Given the description of an element on the screen output the (x, y) to click on. 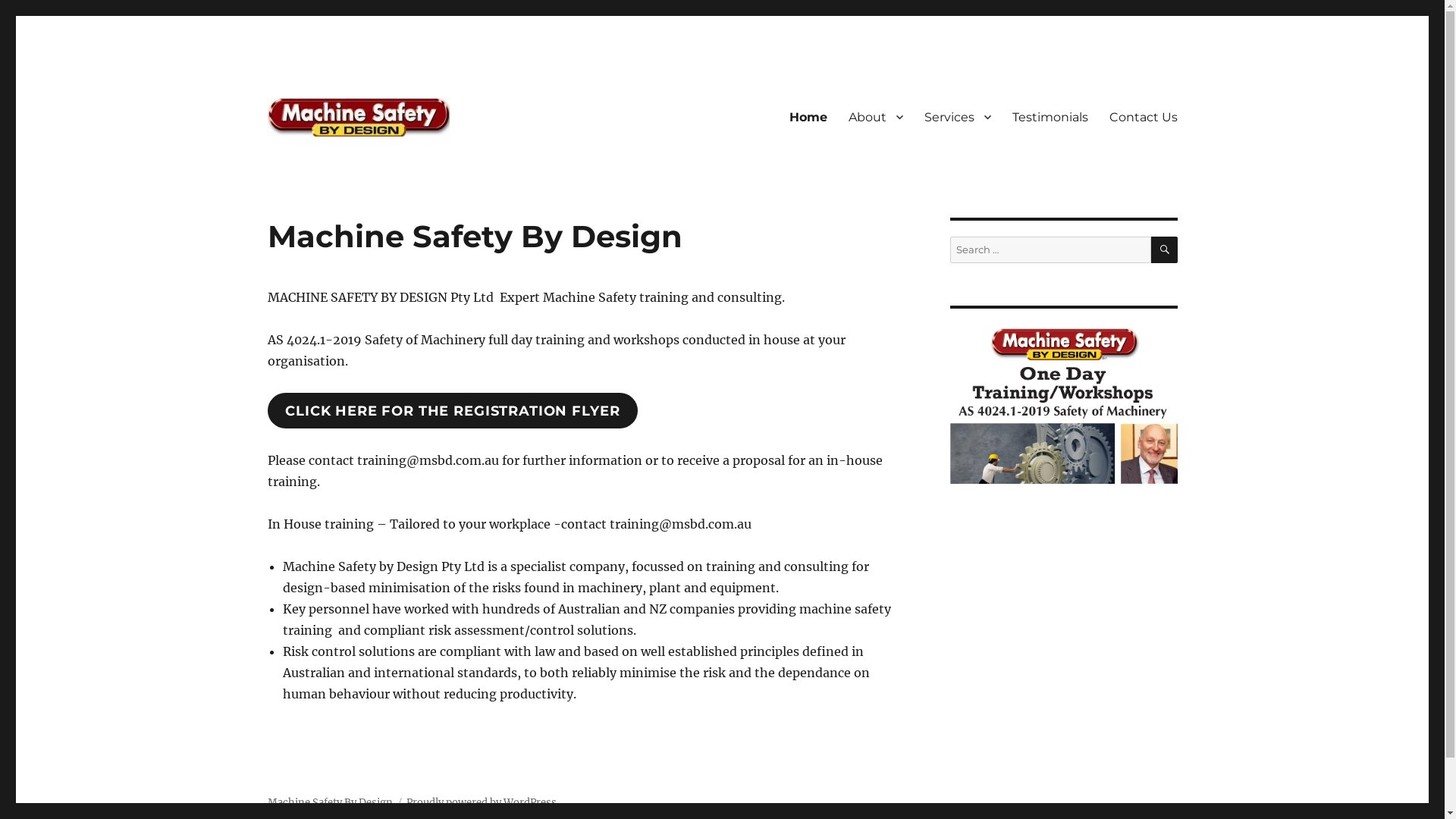
Home Element type: text (807, 116)
About Element type: text (875, 116)
Testimonials Element type: text (1049, 116)
CLICK HERE FOR THE REGISTRATION FLYER Element type: text (451, 410)
Services Element type: text (957, 116)
Machine Safety By Design Element type: text (329, 802)
SEARCH Element type: text (1164, 249)
Proudly powered by WordPress Element type: text (481, 802)
Contact Us Element type: text (1142, 116)
Machine Safety By Design Element type: text (411, 159)
